Given the description of an element on the screen output the (x, y) to click on. 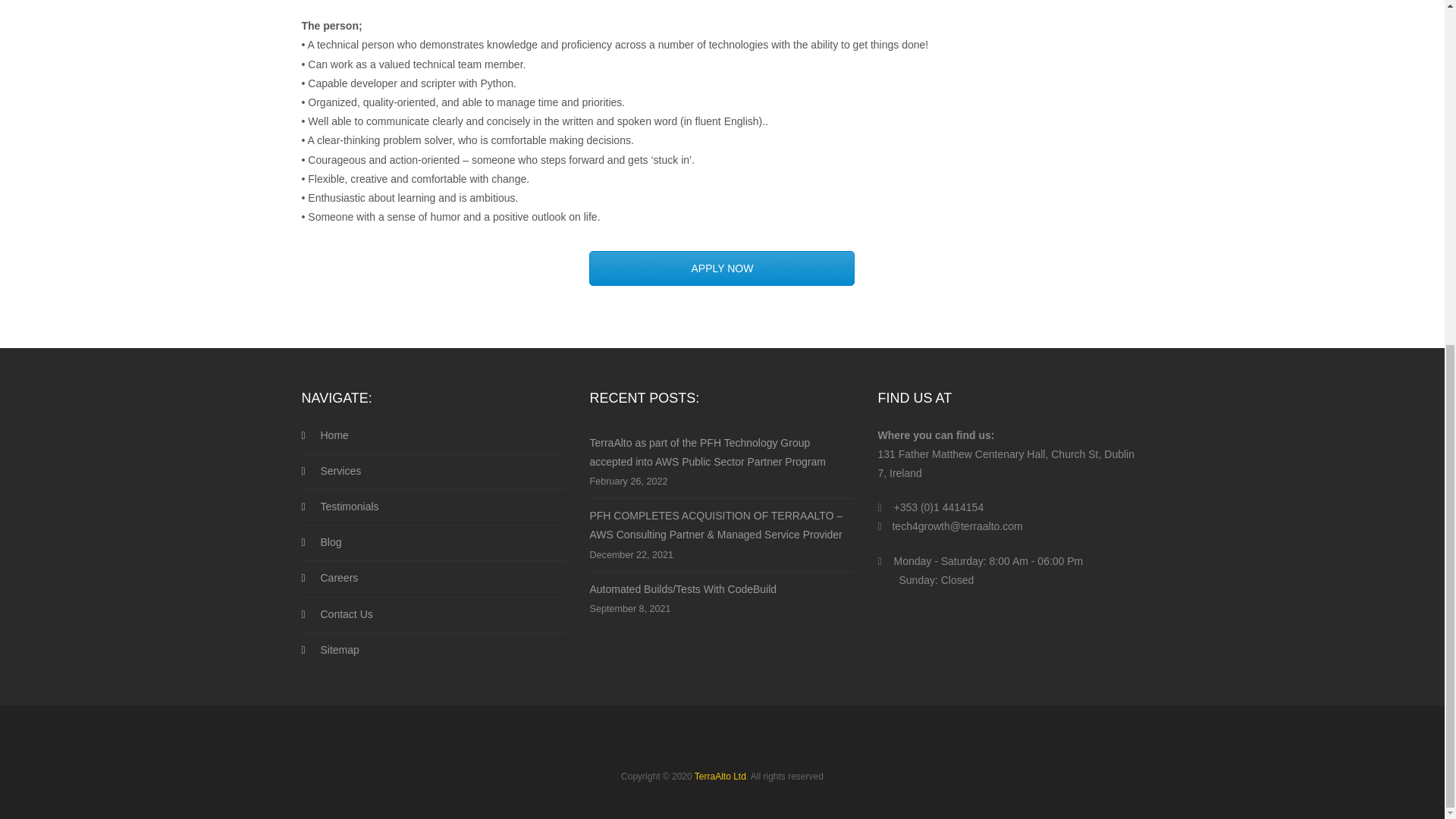
Careers (434, 578)
Blog (434, 542)
Services (434, 471)
Testimonials (434, 506)
APPLY NOW (721, 267)
Home (434, 439)
